Given the description of an element on the screen output the (x, y) to click on. 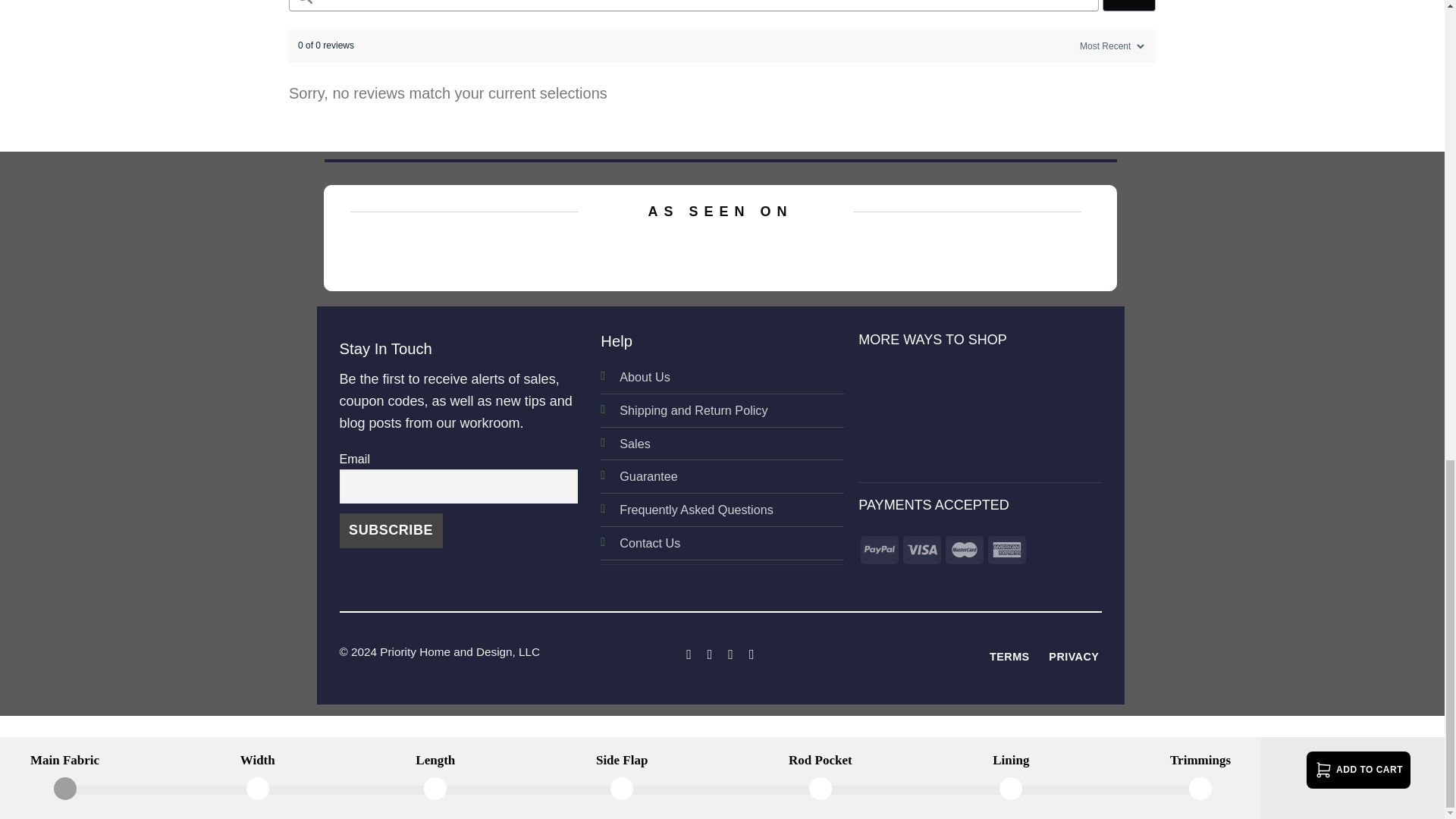
Subscribe (390, 530)
